Given the description of an element on the screen output the (x, y) to click on. 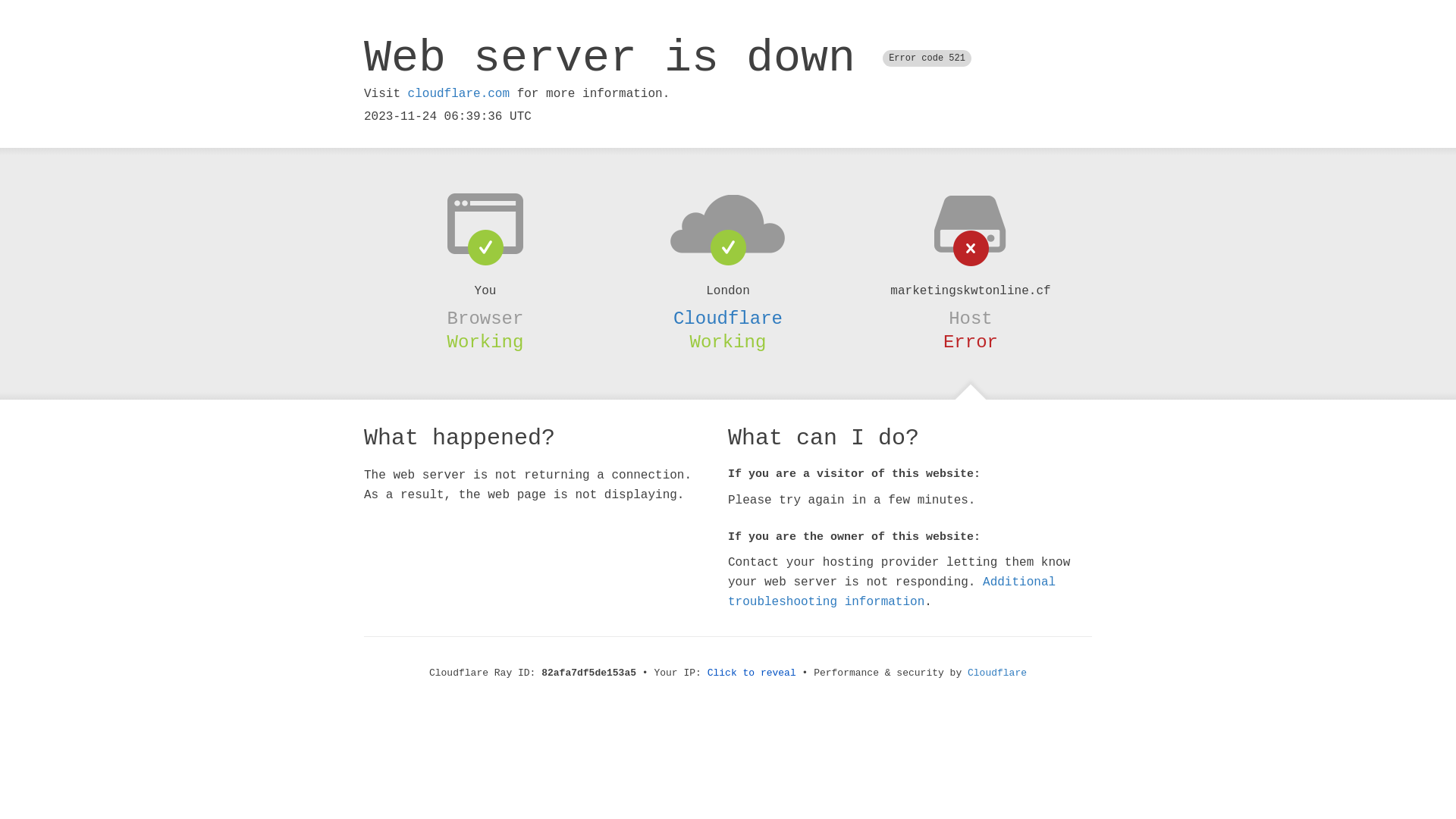
Cloudflare Element type: text (996, 672)
Cloudflare Element type: text (727, 318)
cloudflare.com Element type: text (458, 93)
Click to reveal Element type: text (751, 672)
Additional troubleshooting information Element type: text (891, 591)
